Given the description of an element on the screen output the (x, y) to click on. 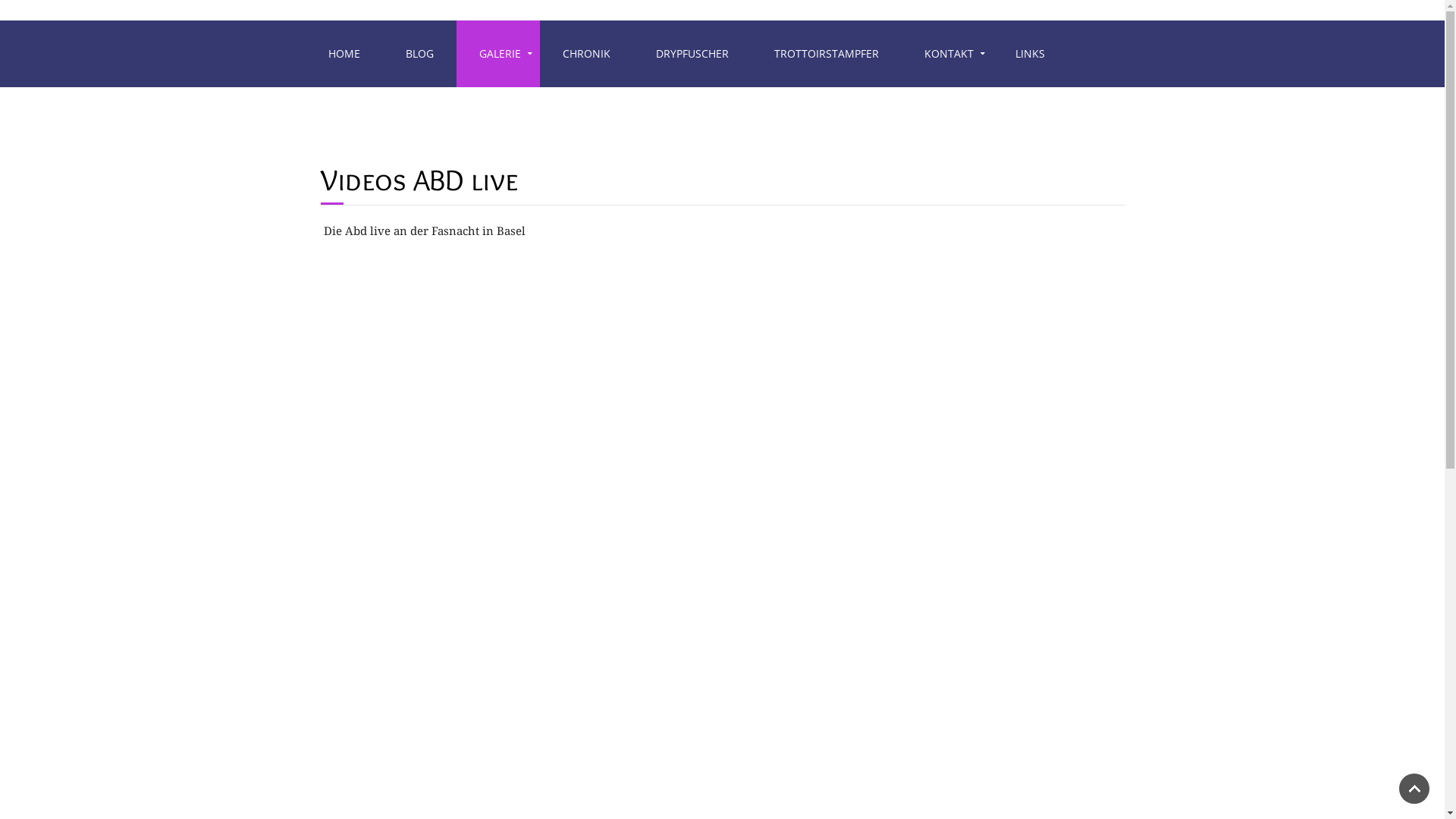
GALERIE Element type: text (497, 53)
CHRONIK Element type: text (586, 53)
TROTTOIRSTAMPFER Element type: text (825, 53)
HOME Element type: text (343, 53)
BLOG Element type: text (418, 53)
DRYPFUSCHER Element type: text (691, 53)
LINKS Element type: text (1028, 53)
KONTAKT Element type: text (945, 53)
